Given the description of an element on the screen output the (x, y) to click on. 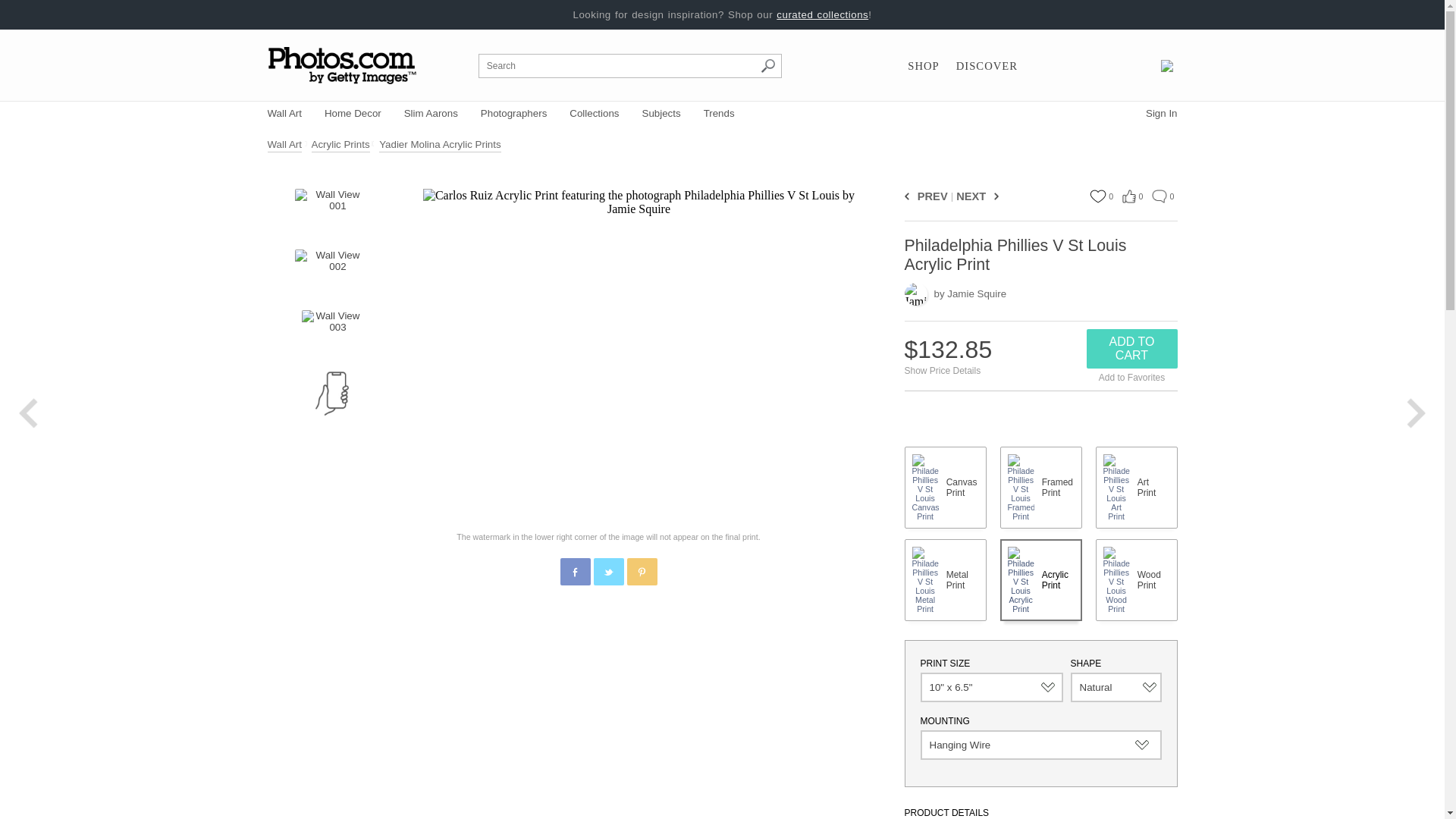
Pinterest (642, 572)
Share Product on Twitter (607, 571)
Facebook (575, 572)
Wall View 001 (331, 211)
curated collections (821, 14)
Wall View 003 (331, 332)
Favorite (1097, 196)
Share Product on Facebook (574, 571)
Photos.com - Buy Art Online (342, 65)
Wall View 002 (331, 271)
Twitter (609, 572)
Search (767, 65)
Comment (1158, 196)
Share Product on Pinterest (641, 571)
